Given the description of an element on the screen output the (x, y) to click on. 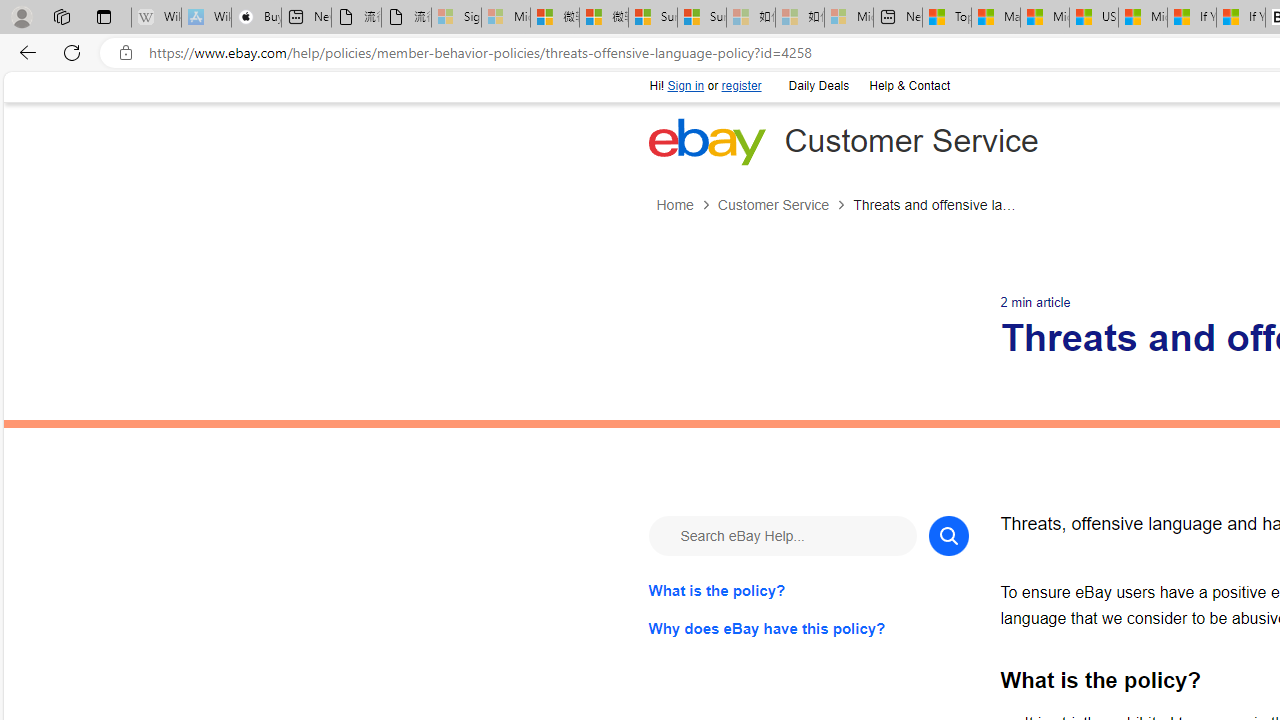
Search eBay Help... (781, 534)
Sign in (685, 85)
Threats and offensive language policy (936, 205)
Buy iPad - Apple (256, 17)
Help & Contact (909, 86)
register (740, 85)
eBay Home (706, 141)
Search (948, 534)
eBay Home (706, 141)
View site information (125, 53)
Customer Service (784, 205)
Home (686, 205)
Help & Contact (907, 84)
